Given the description of an element on the screen output the (x, y) to click on. 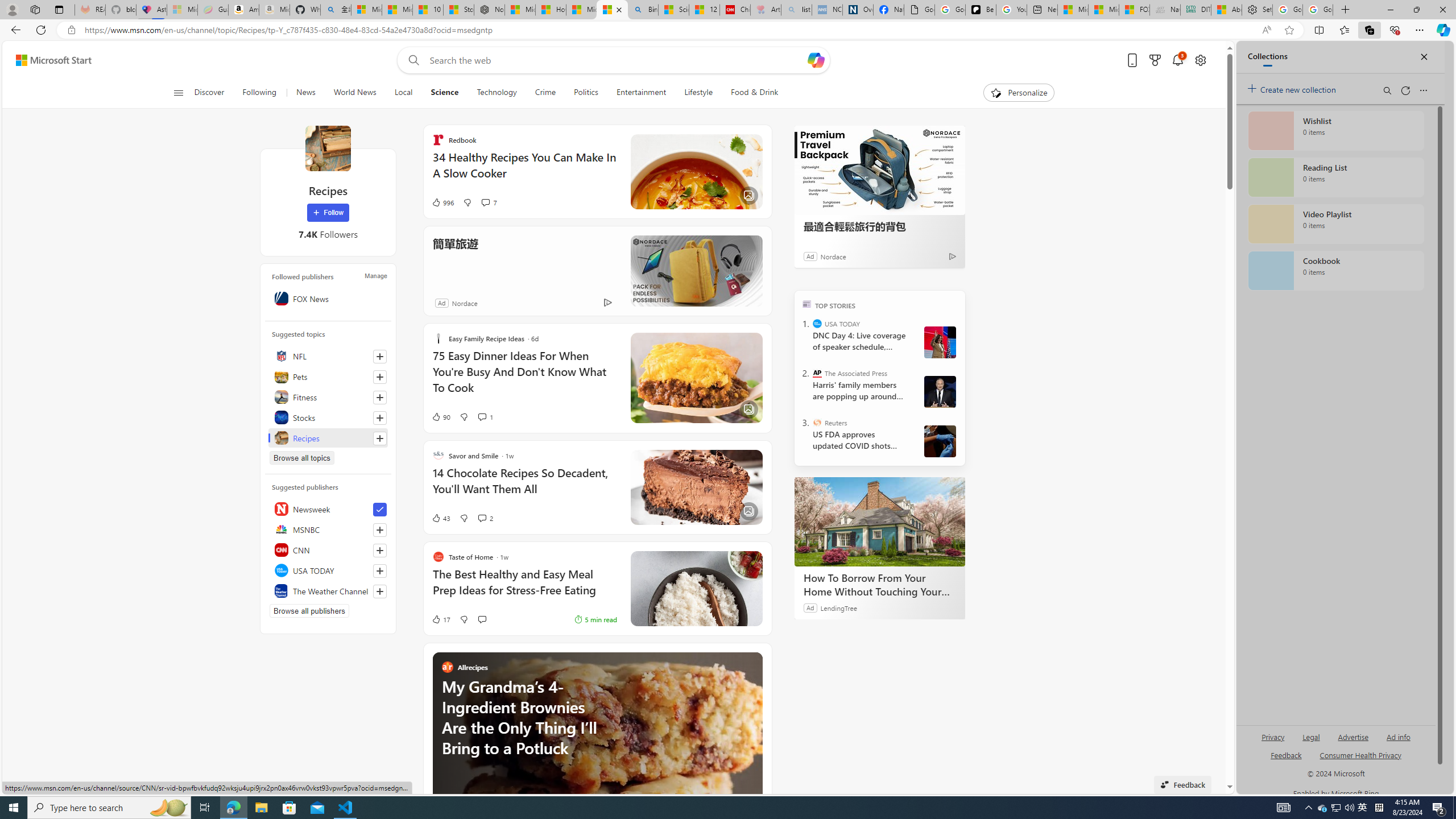
The Associated Press (816, 372)
View comments 7 Comment (489, 202)
AutomationID: genId96 (1285, 759)
